Given the description of an element on the screen output the (x, y) to click on. 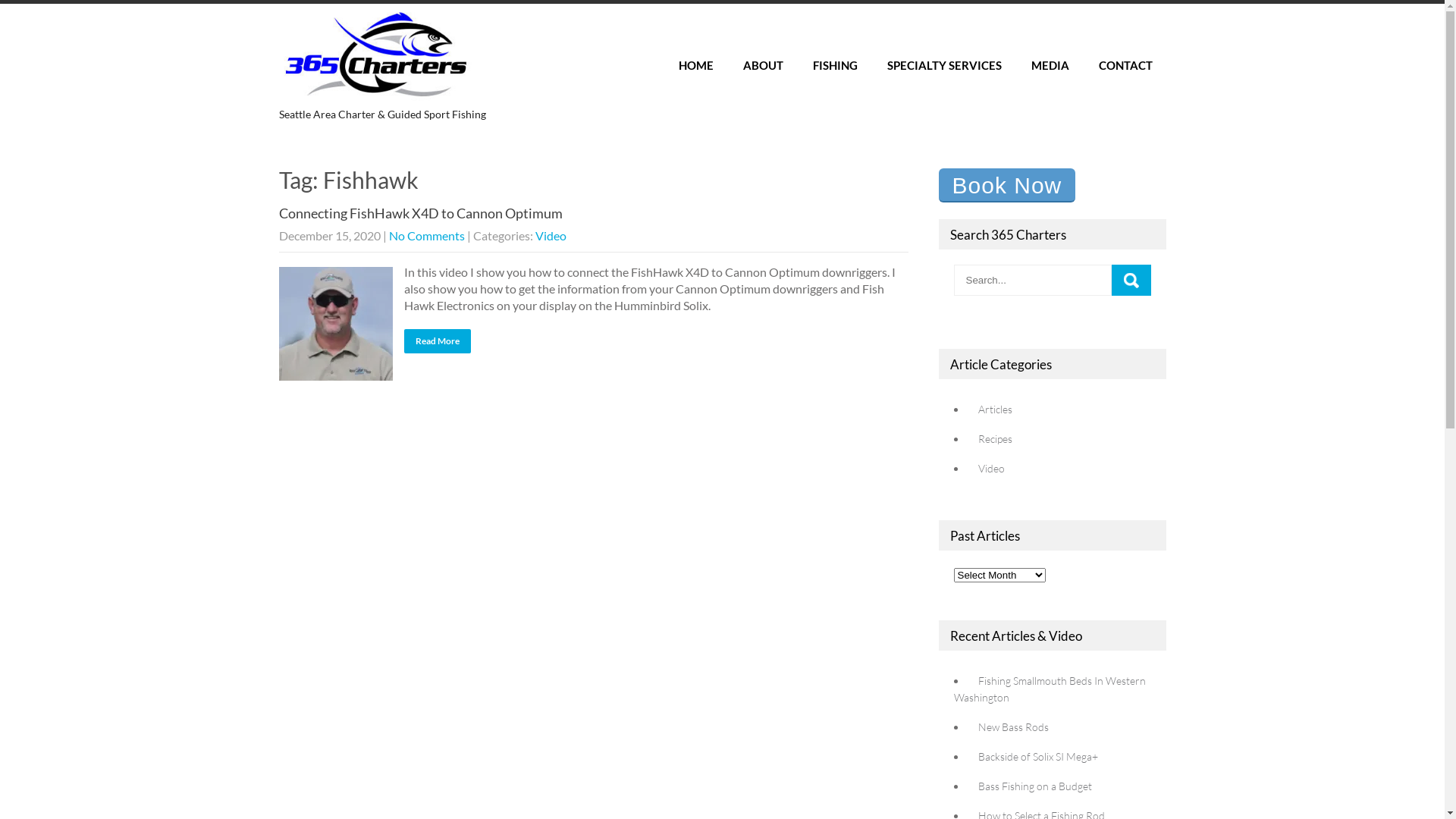
Bass Fishing on a Budget Element type: text (1031, 785)
No Comments Element type: text (426, 235)
MEDIA Element type: text (1049, 64)
Seattle Area Charter & Guided Sport Fishing Element type: text (390, 106)
Connecting FishHawk X4D to Cannon Optimum Element type: text (420, 212)
Fishing Smallmouth Beds In Western Washington Element type: text (1049, 688)
Video Element type: text (987, 467)
New Bass Rods Element type: text (1009, 726)
Video Element type: text (550, 235)
Backside of Solix SI Mega+ Element type: text (1034, 755)
CONTACT Element type: text (1124, 64)
SPECIALTY SERVICES Element type: text (944, 64)
FISHING Element type: text (835, 64)
ABOUT Element type: text (763, 64)
Recipes Element type: text (991, 438)
Articles Element type: text (991, 408)
Search Element type: text (1131, 279)
HOME Element type: text (695, 64)
Book Now Element type: text (1007, 185)
Read More Element type: text (436, 341)
